Given the description of an element on the screen output the (x, y) to click on. 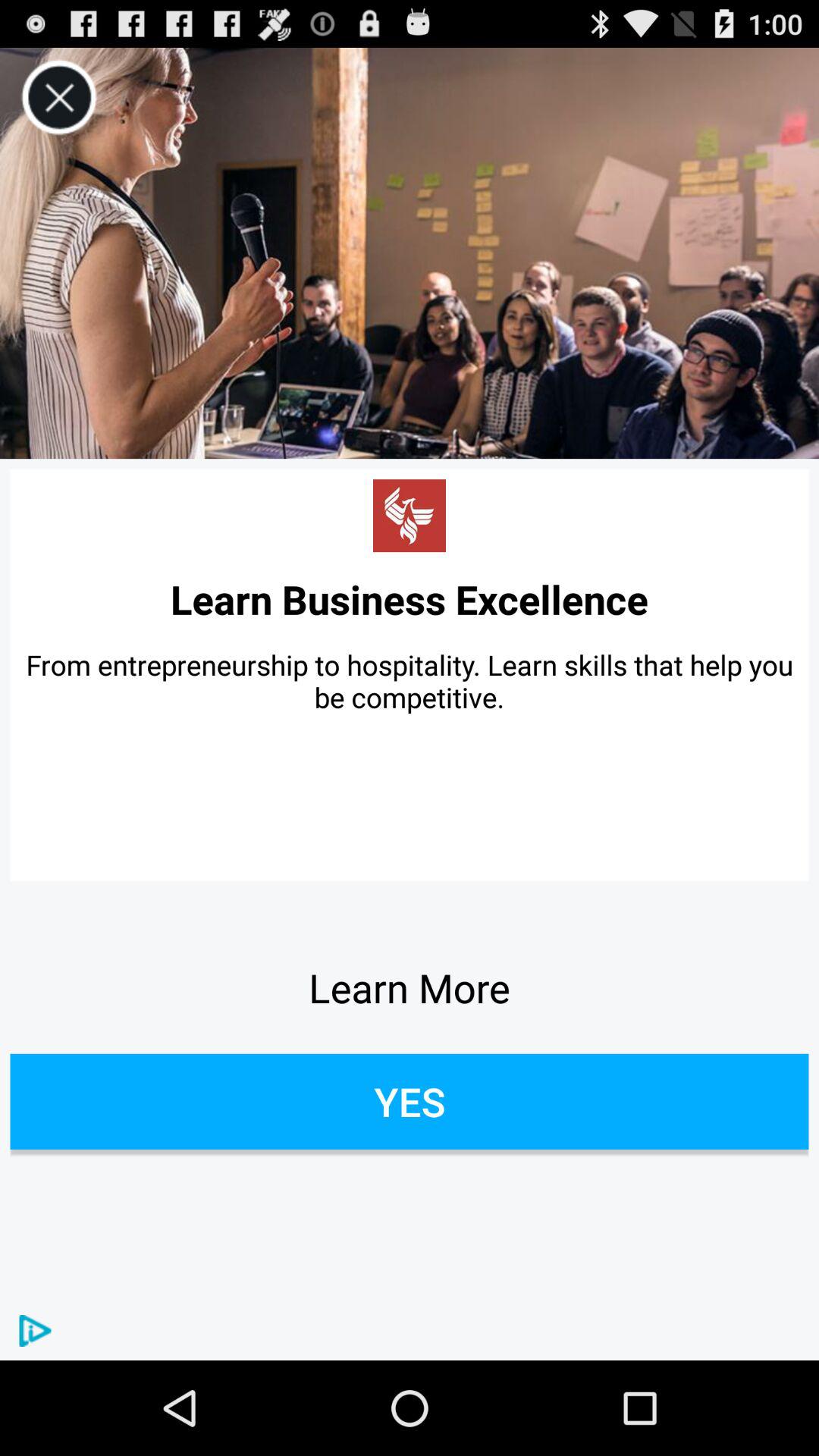
press from entrepreneurship to (409, 680)
